Given the description of an element on the screen output the (x, y) to click on. 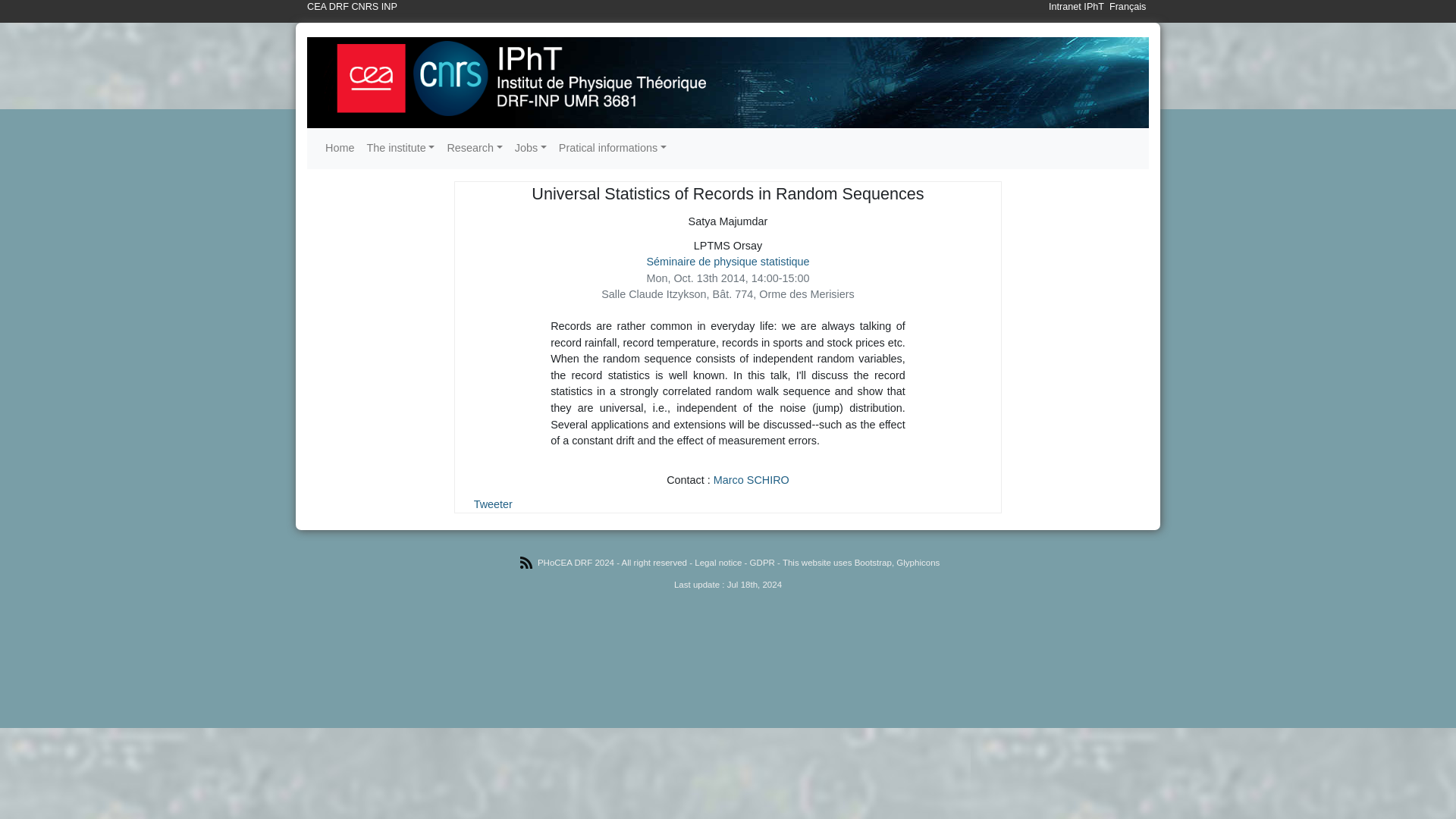
Intranet IPhT (1075, 6)
INP (389, 6)
Home (338, 148)
CNRS (364, 6)
CEA (316, 6)
DRF (339, 6)
Research (474, 148)
The institute (400, 148)
